Given the description of an element on the screen output the (x, y) to click on. 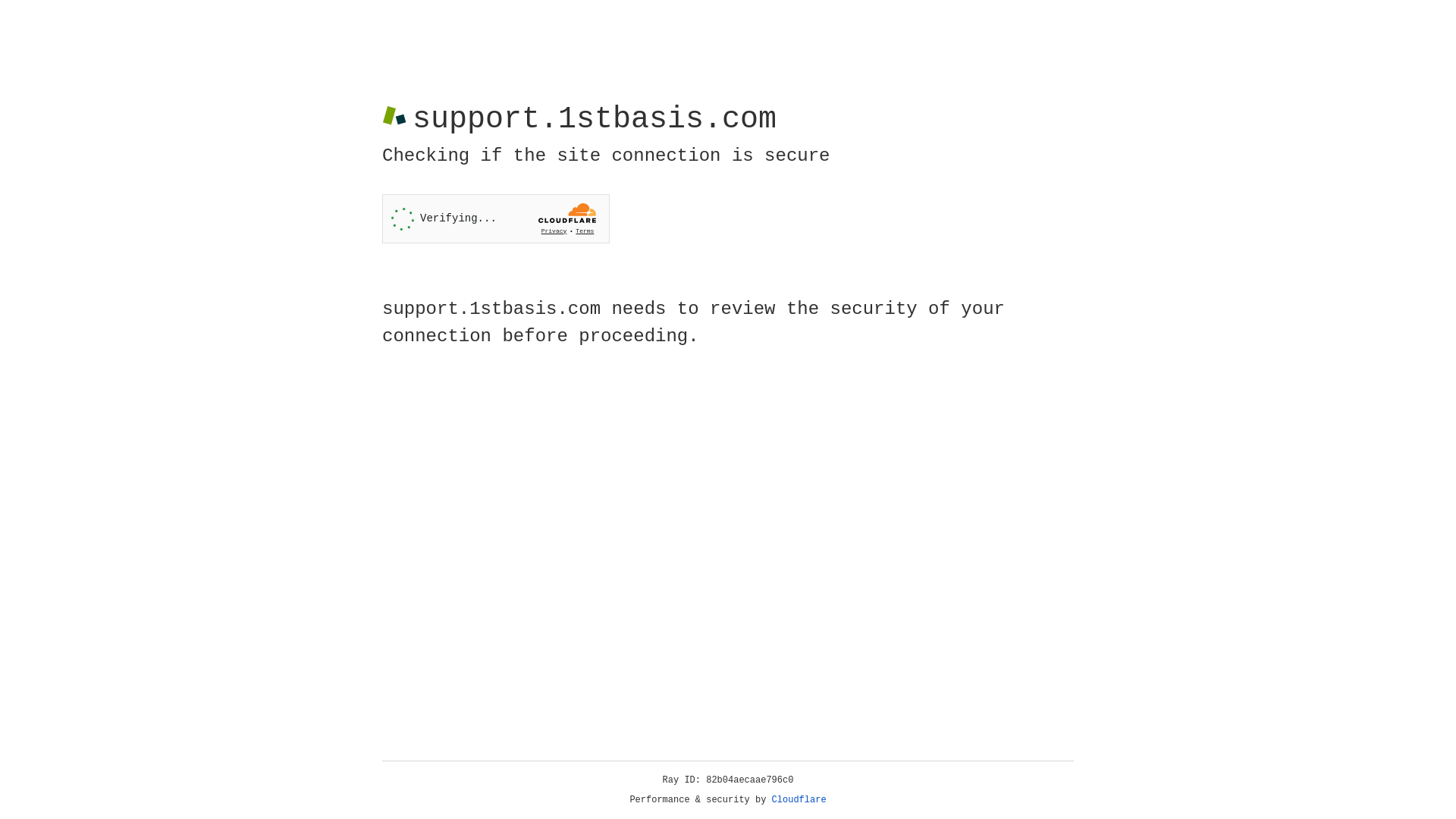
Widget containing a Cloudflare security challenge Element type: hover (495, 218)
Cloudflare Element type: text (798, 799)
